Given the description of an element on the screen output the (x, y) to click on. 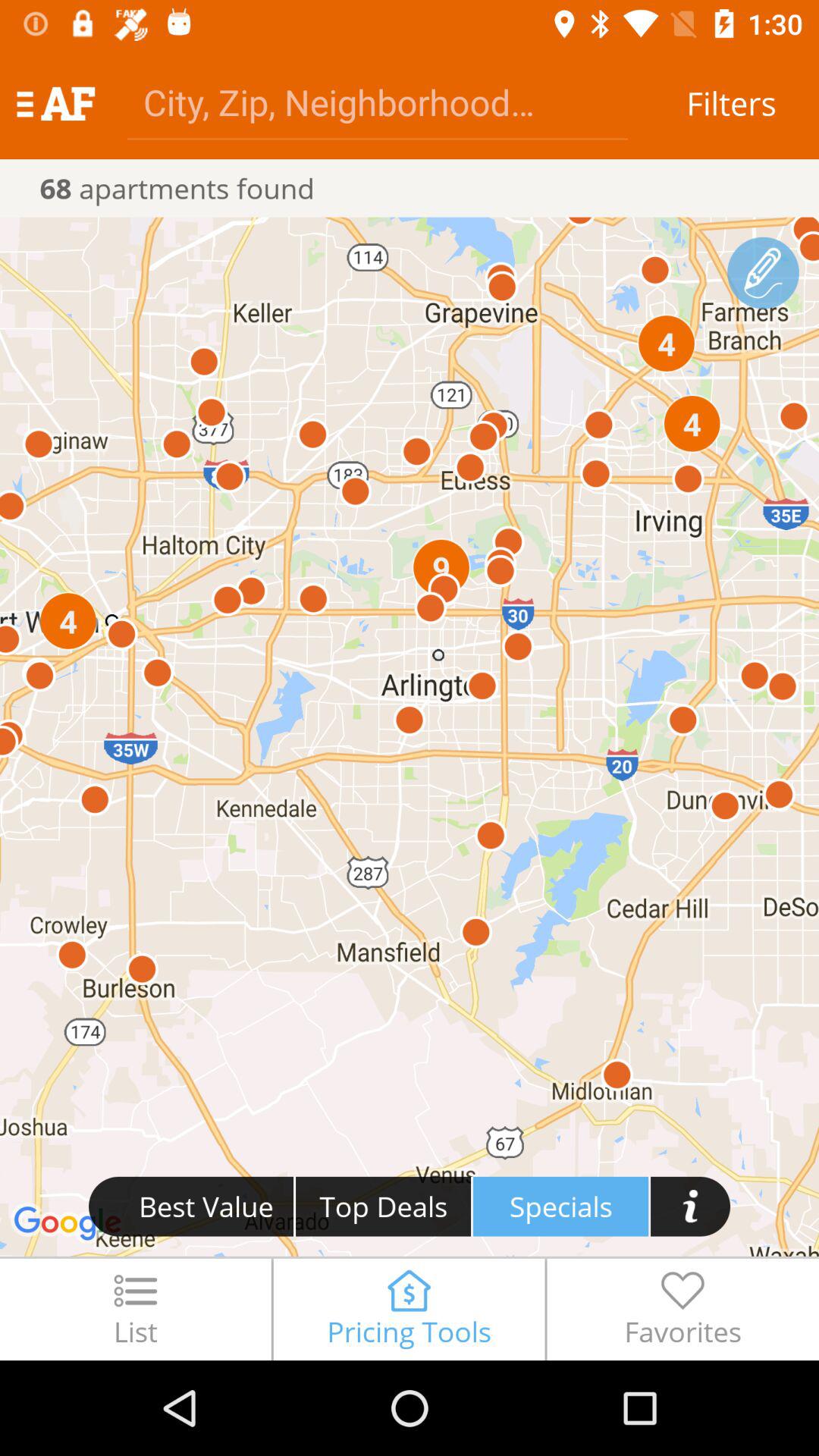
select route (763, 272)
